Given the description of an element on the screen output the (x, y) to click on. 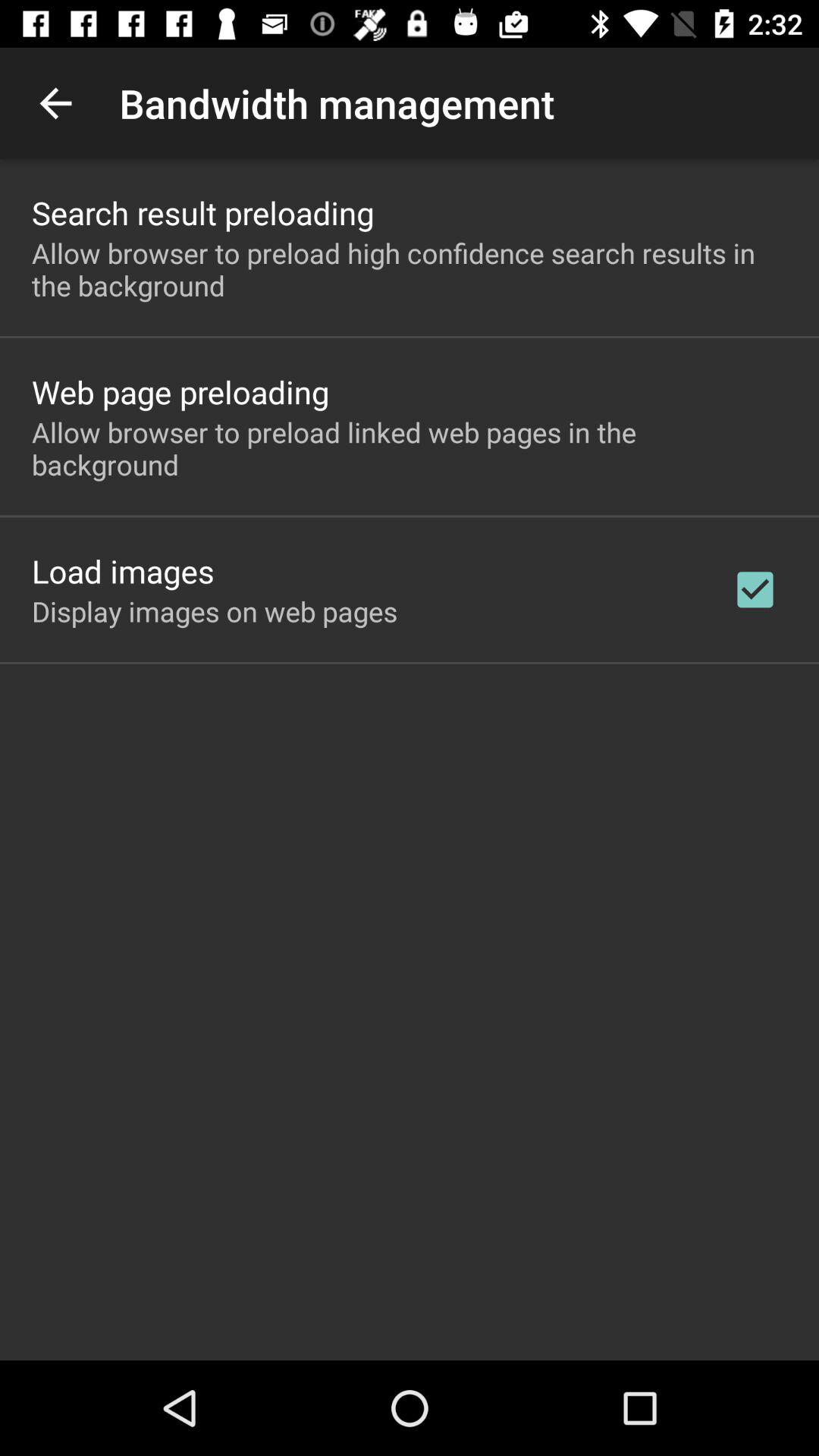
press item to the right of the display images on app (755, 589)
